Given the description of an element on the screen output the (x, y) to click on. 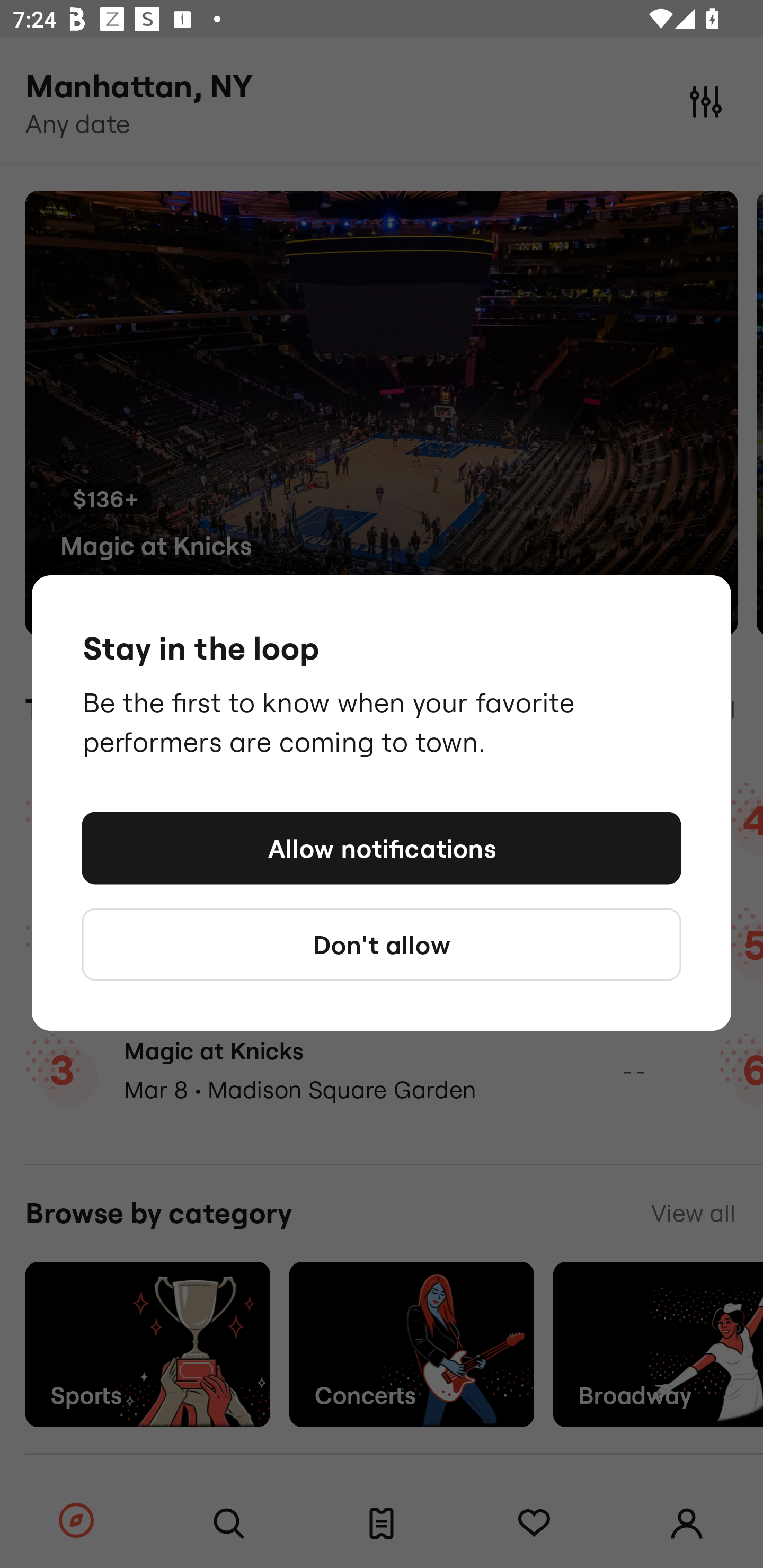
Allow notifications (381, 847)
Don't allow (381, 944)
